Given the description of an element on the screen output the (x, y) to click on. 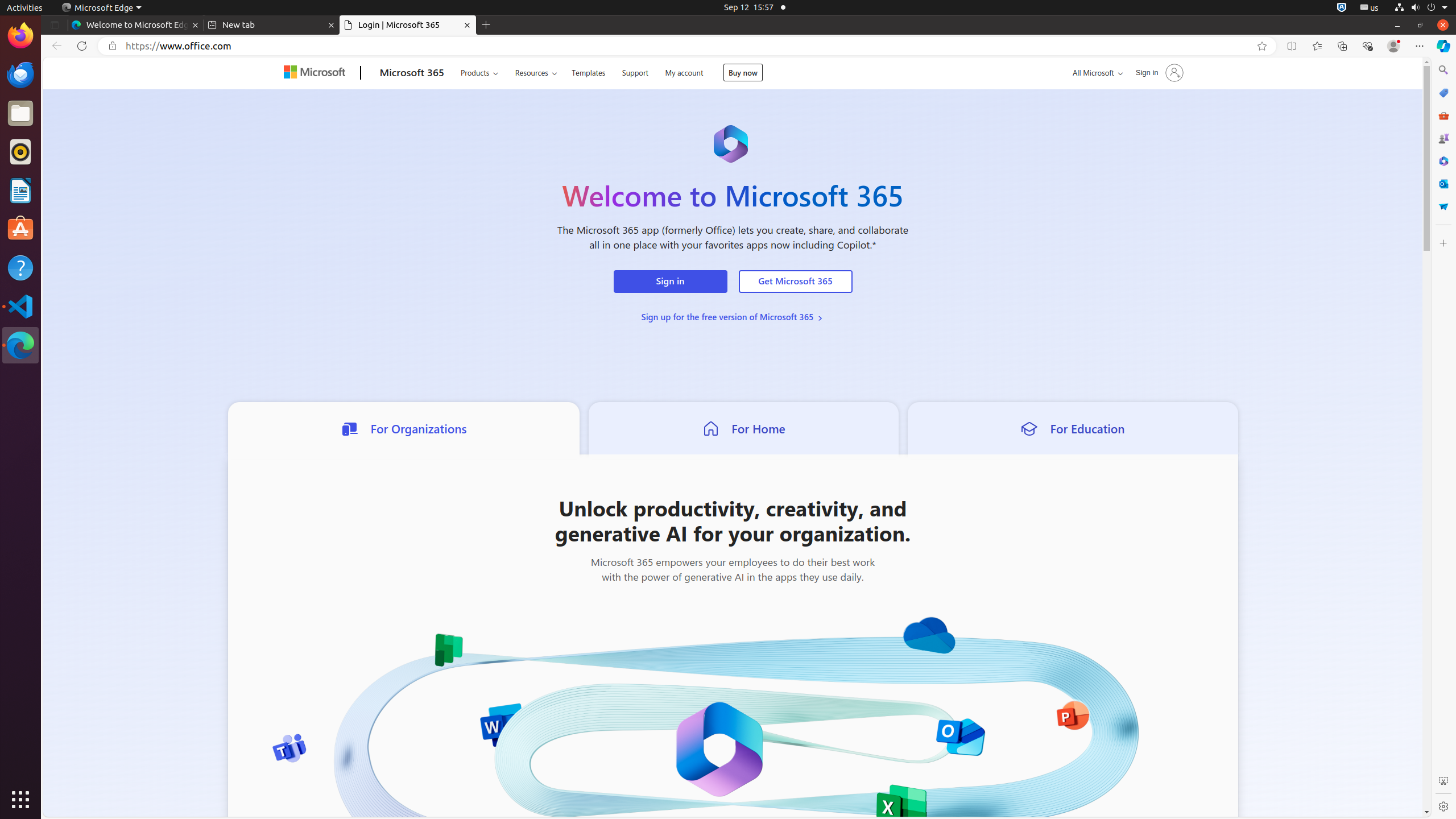
View site information Element type: push-button (112, 46)
Collections Element type: push-button (1341, 45)
Templates Element type: link (588, 71)
Firefox Web Browser Element type: push-button (20, 35)
Sign in Element type: push-button (670, 281)
